Given the description of an element on the screen output the (x, y) to click on. 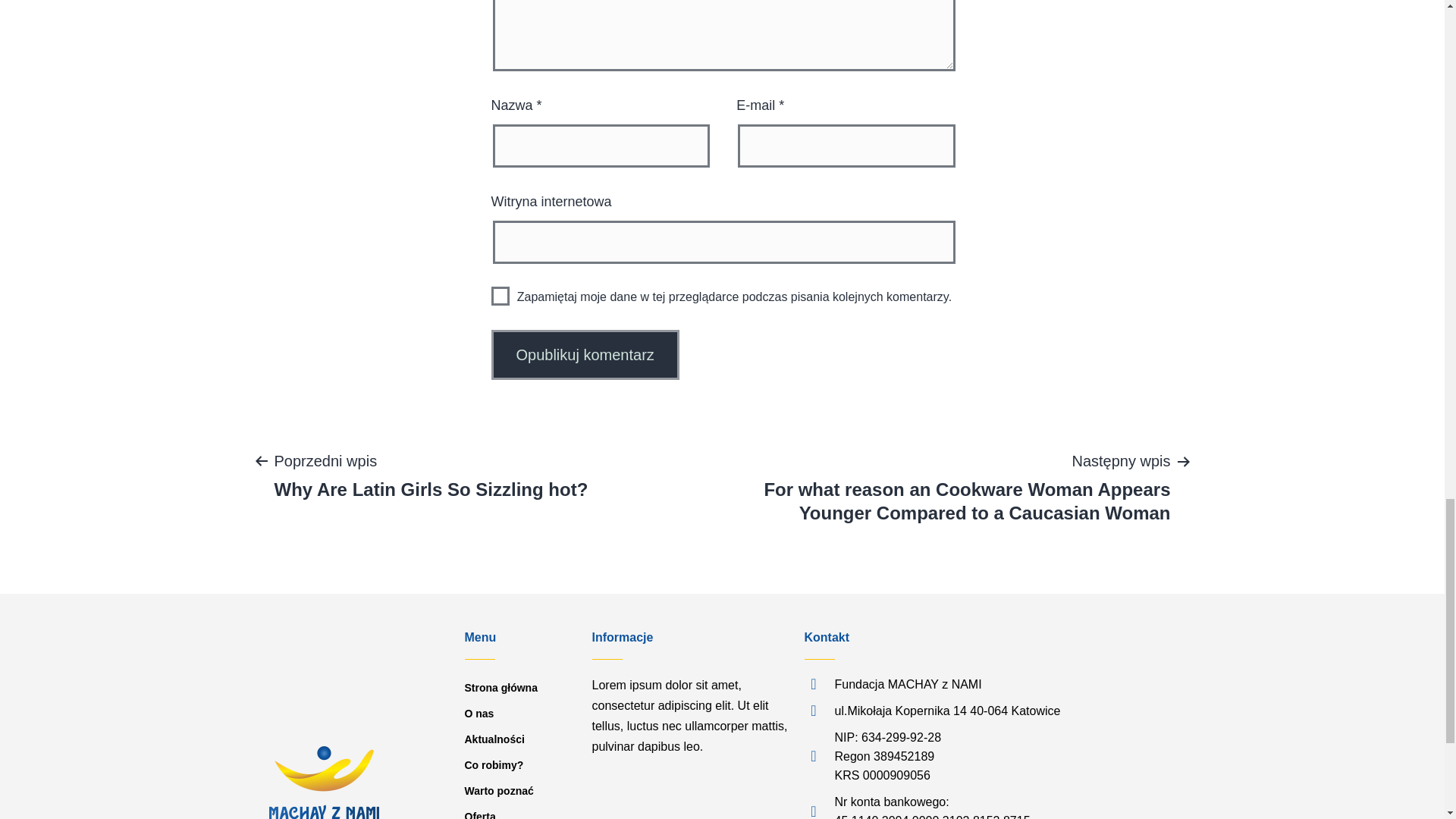
Opublikuj komentarz (430, 474)
Co robimy? (585, 355)
Opublikuj komentarz (520, 765)
yes (585, 355)
O nas (500, 295)
Oferta (520, 713)
